Given the description of an element on the screen output the (x, y) to click on. 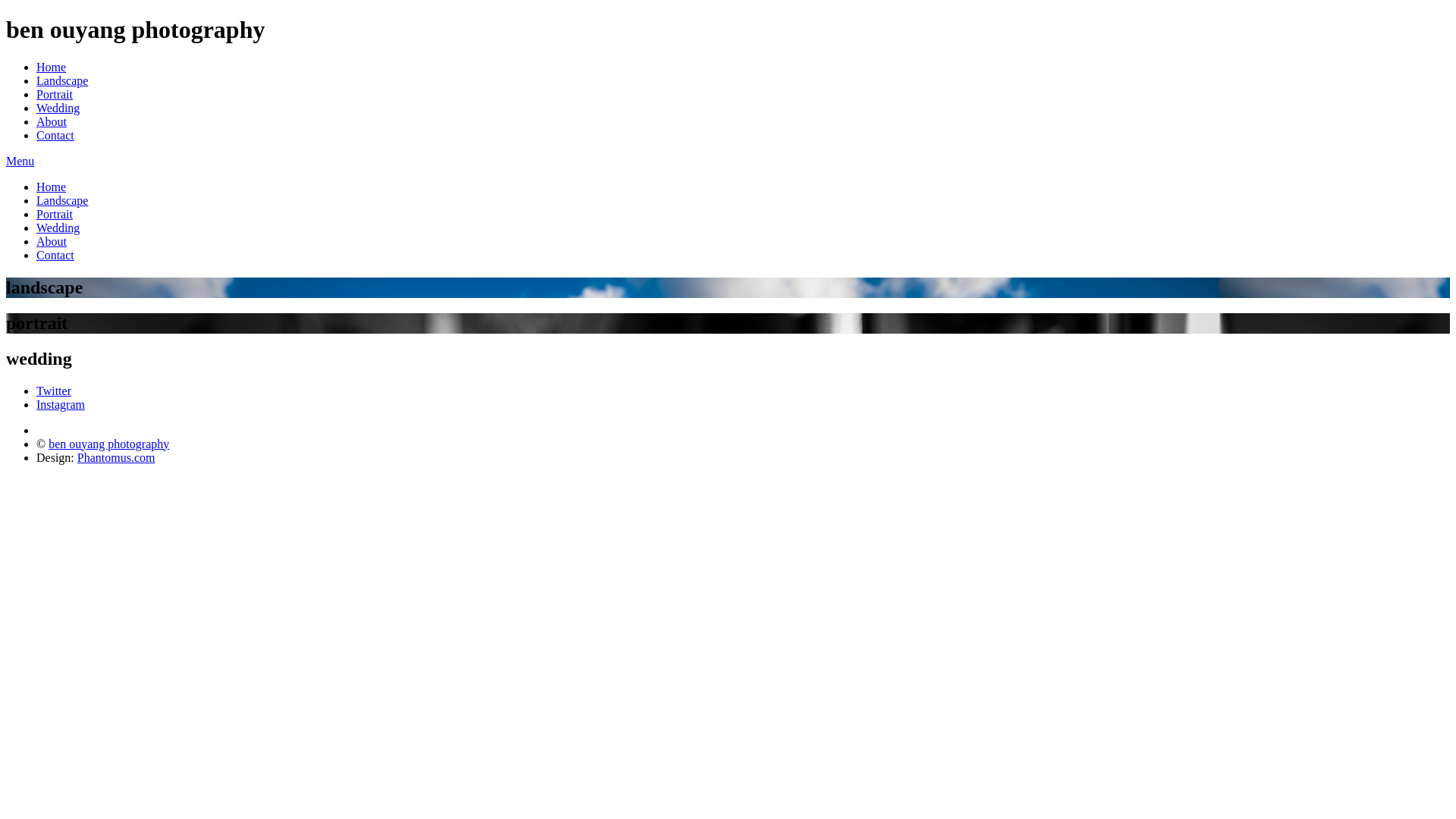
Wedding Element type: text (57, 107)
Landscape Element type: text (61, 200)
Portrait Element type: text (54, 213)
ben ouyang photography Element type: text (108, 442)
Landscape Element type: text (61, 80)
Instagram Element type: text (60, 403)
Wedding Element type: text (57, 227)
About Element type: text (51, 121)
Contact Element type: text (55, 254)
Contact Element type: text (55, 134)
Phantomus.com Element type: text (116, 456)
Portrait Element type: text (54, 93)
Home Element type: text (50, 186)
About Element type: text (51, 241)
Home Element type: text (50, 66)
Menu Element type: text (20, 160)
Twitter Element type: text (53, 389)
